Given the description of an element on the screen output the (x, y) to click on. 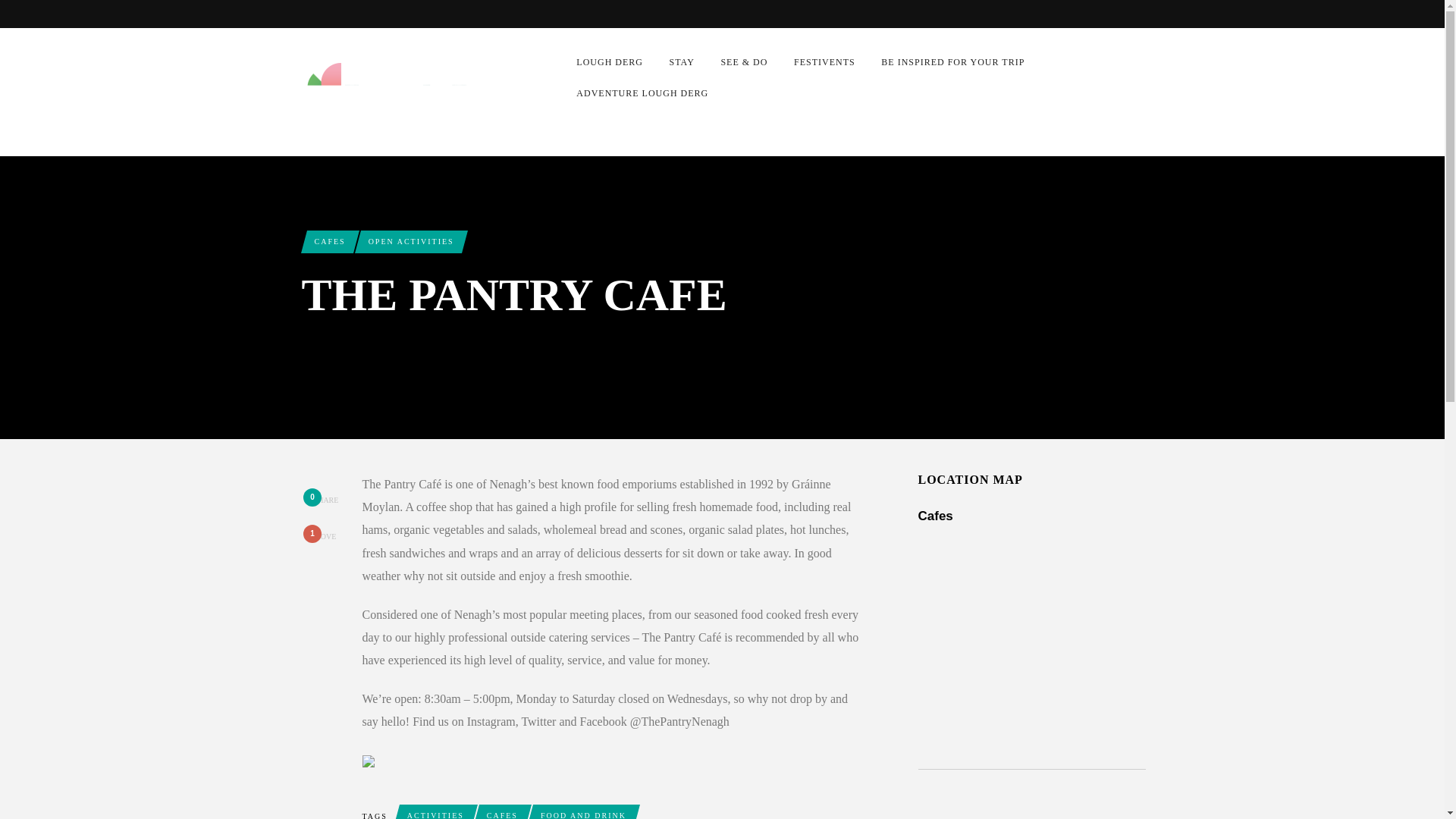
LOUGH DERG (610, 61)
More Cafes Posts (328, 241)
STAY (681, 61)
More Open Activities Posts (411, 241)
FESTIVENTS (823, 61)
BE INSPIRED FOR YOUR TRIP (953, 61)
